Given the description of an element on the screen output the (x, y) to click on. 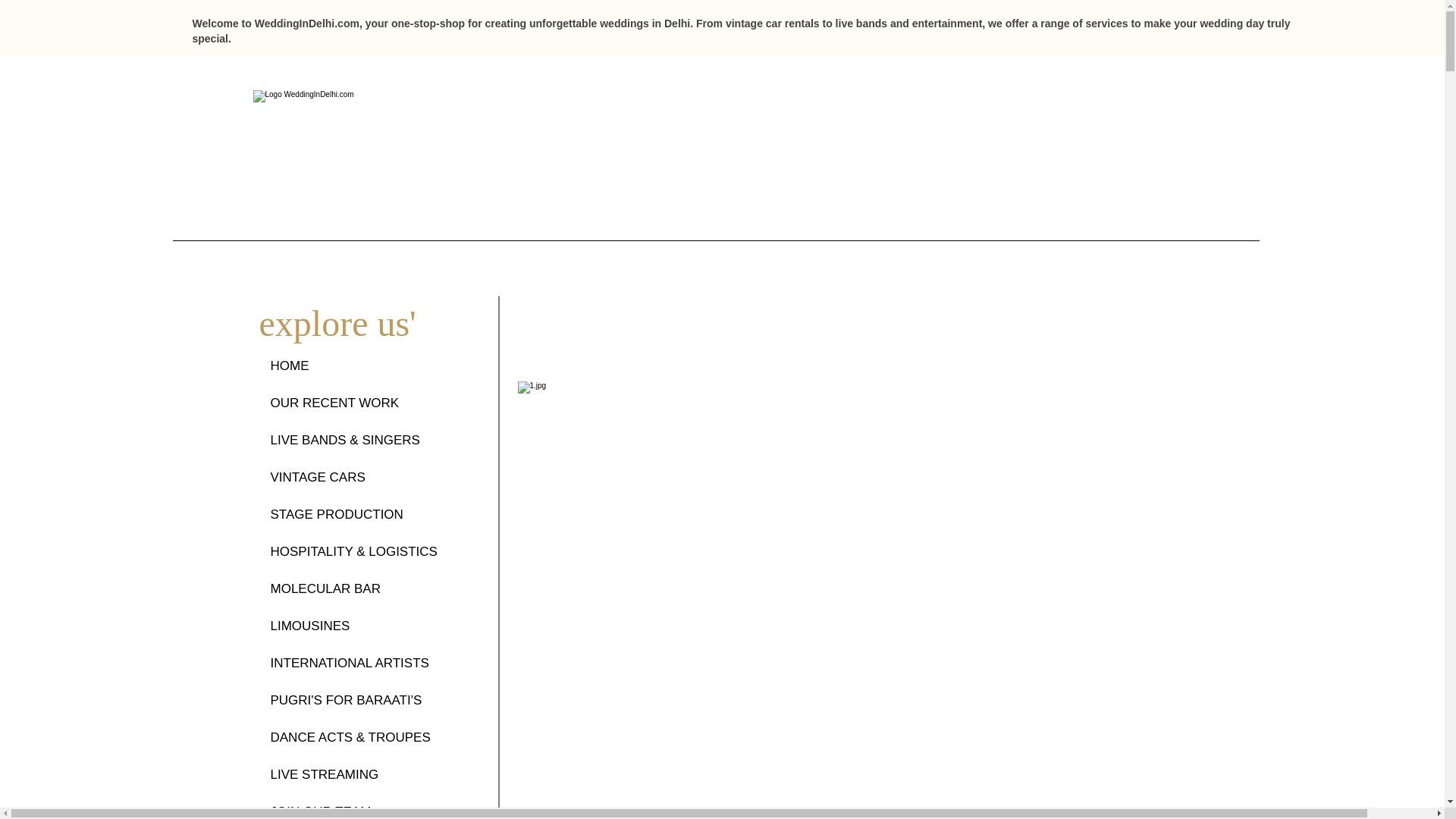
MOLECULAR BAR (369, 588)
OUR RECENT WORK (369, 402)
VINTAGE CARS (369, 477)
INTERNATIONAL ARTISTS (369, 662)
PUGRI'S FOR BARAATI'S (369, 700)
HOME (369, 365)
LIVE STREAMING (369, 774)
LIMOUSINES (369, 625)
STAGE PRODUCTION (369, 514)
JOIN OUR TEAM (369, 806)
